Given the description of an element on the screen output the (x, y) to click on. 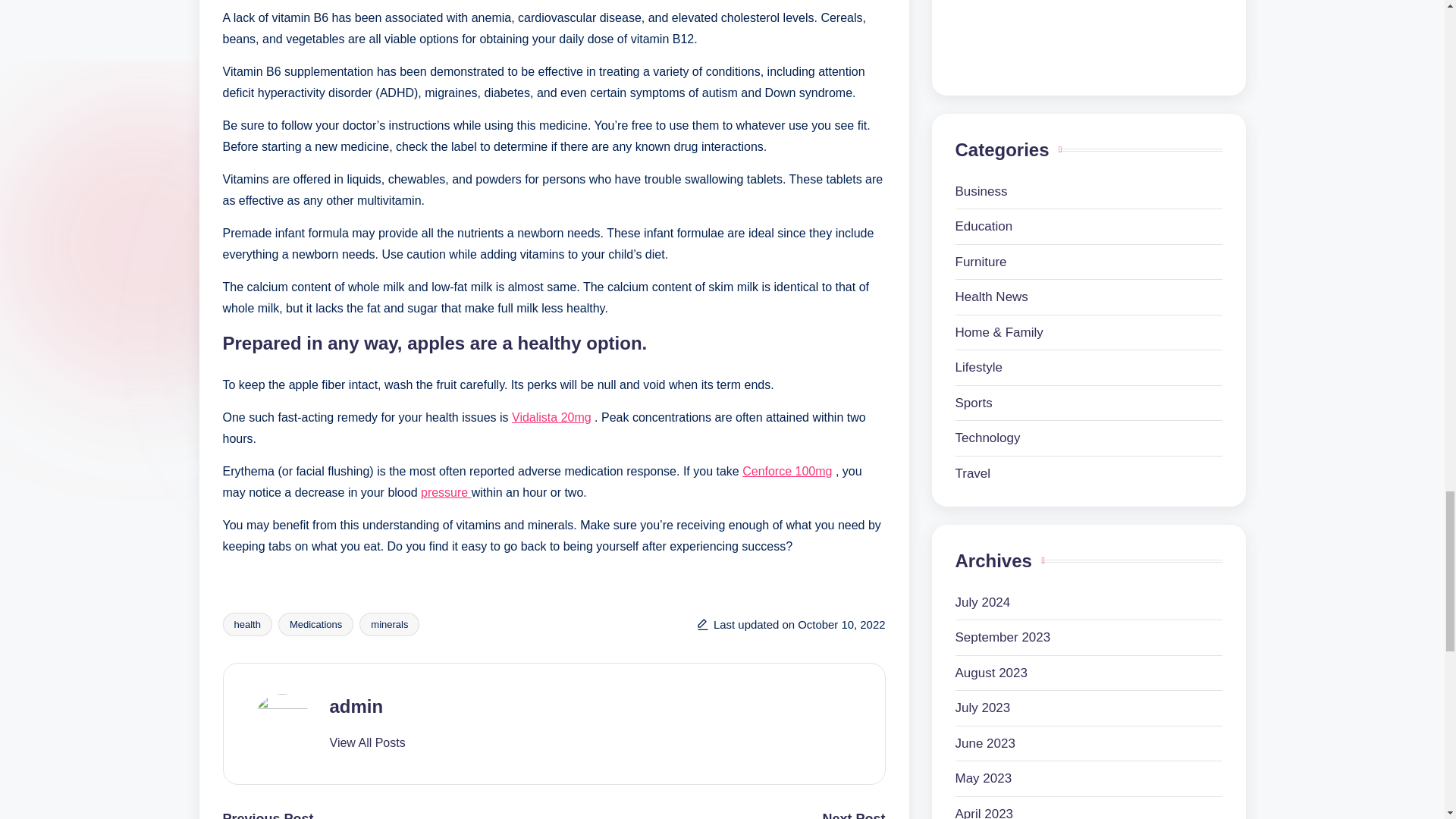
Cenforce 100mg (786, 471)
View All Posts (366, 743)
Vidalista 20mg (551, 417)
admin (355, 706)
minerals (389, 624)
health (247, 624)
Medications (315, 624)
pressure (445, 492)
